Given the description of an element on the screen output the (x, y) to click on. 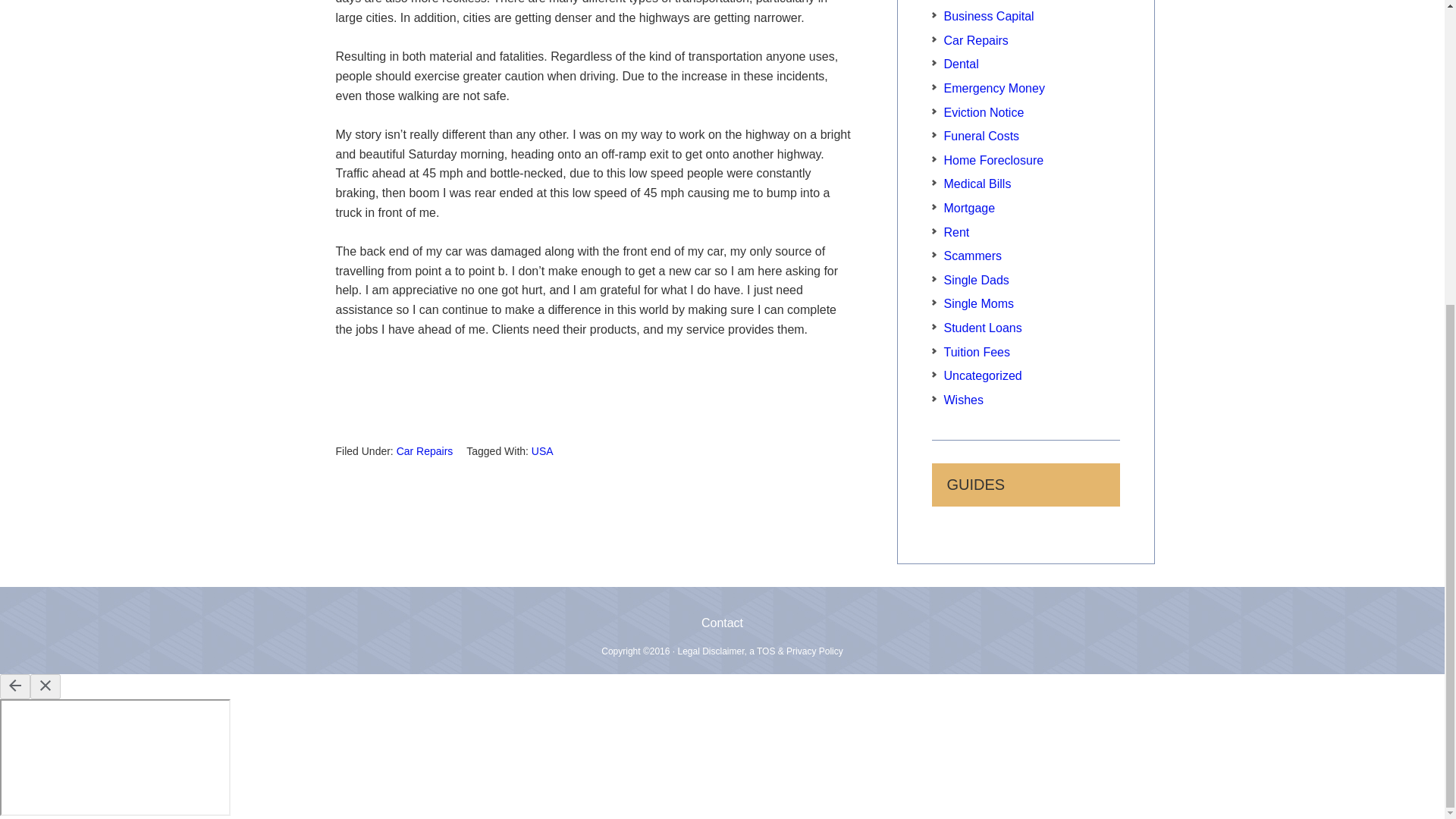
Car Repairs (975, 40)
Student Loans (982, 327)
Car Repairs (424, 451)
Contact (721, 622)
Tuition Fees (976, 351)
Dental (960, 63)
Eviction Notice (983, 112)
Medical Bills (976, 183)
Scammers (972, 255)
Business Capital (988, 15)
Rent (956, 232)
Wishes (962, 399)
Single Dads (976, 279)
Single Moms (978, 303)
Advertisement (592, 392)
